Given the description of an element on the screen output the (x, y) to click on. 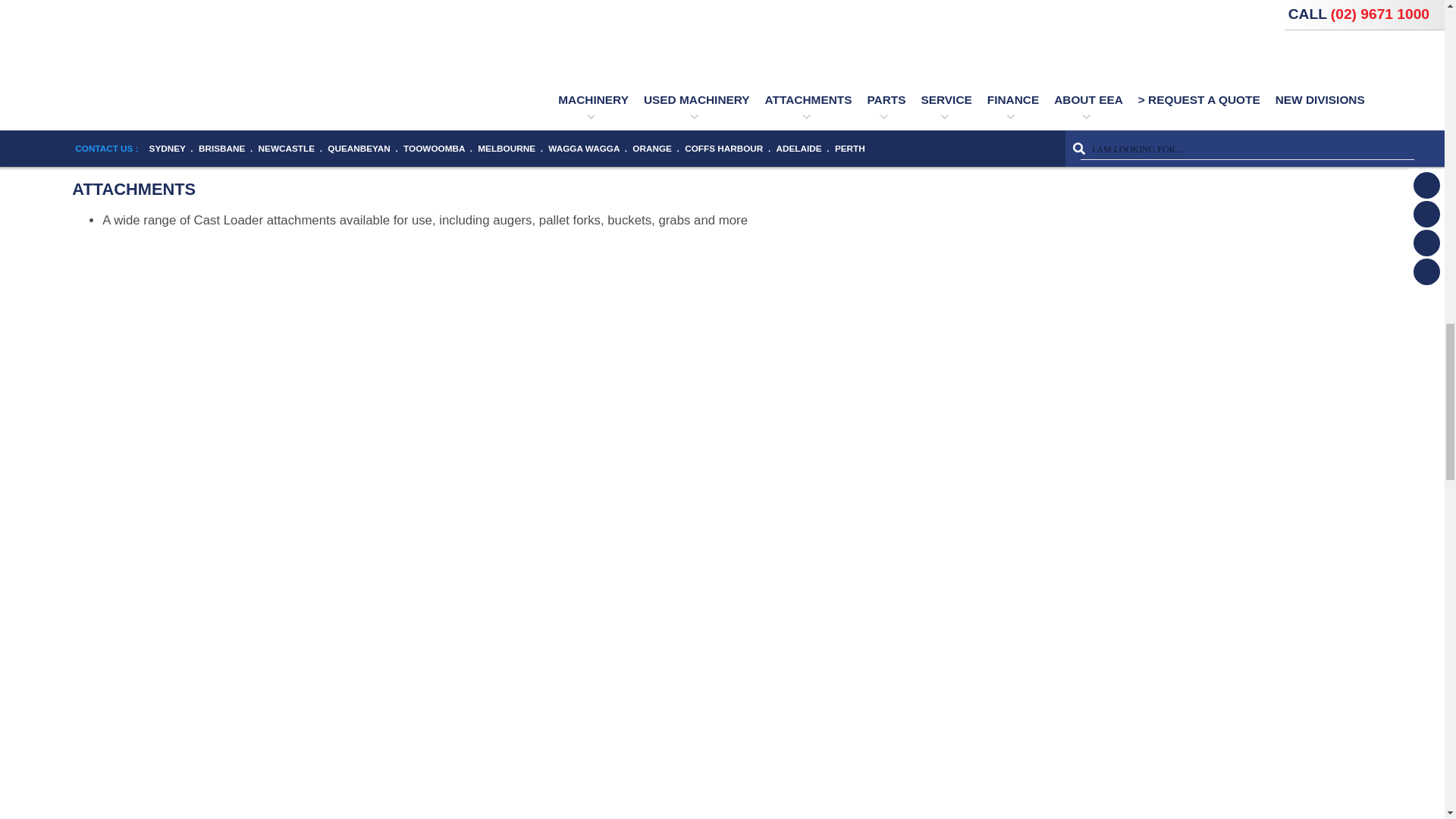
Page 1 (615, 75)
Page 1 (615, 36)
Page 2 (615, 151)
Page 2 (615, 113)
